Given the description of an element on the screen output the (x, y) to click on. 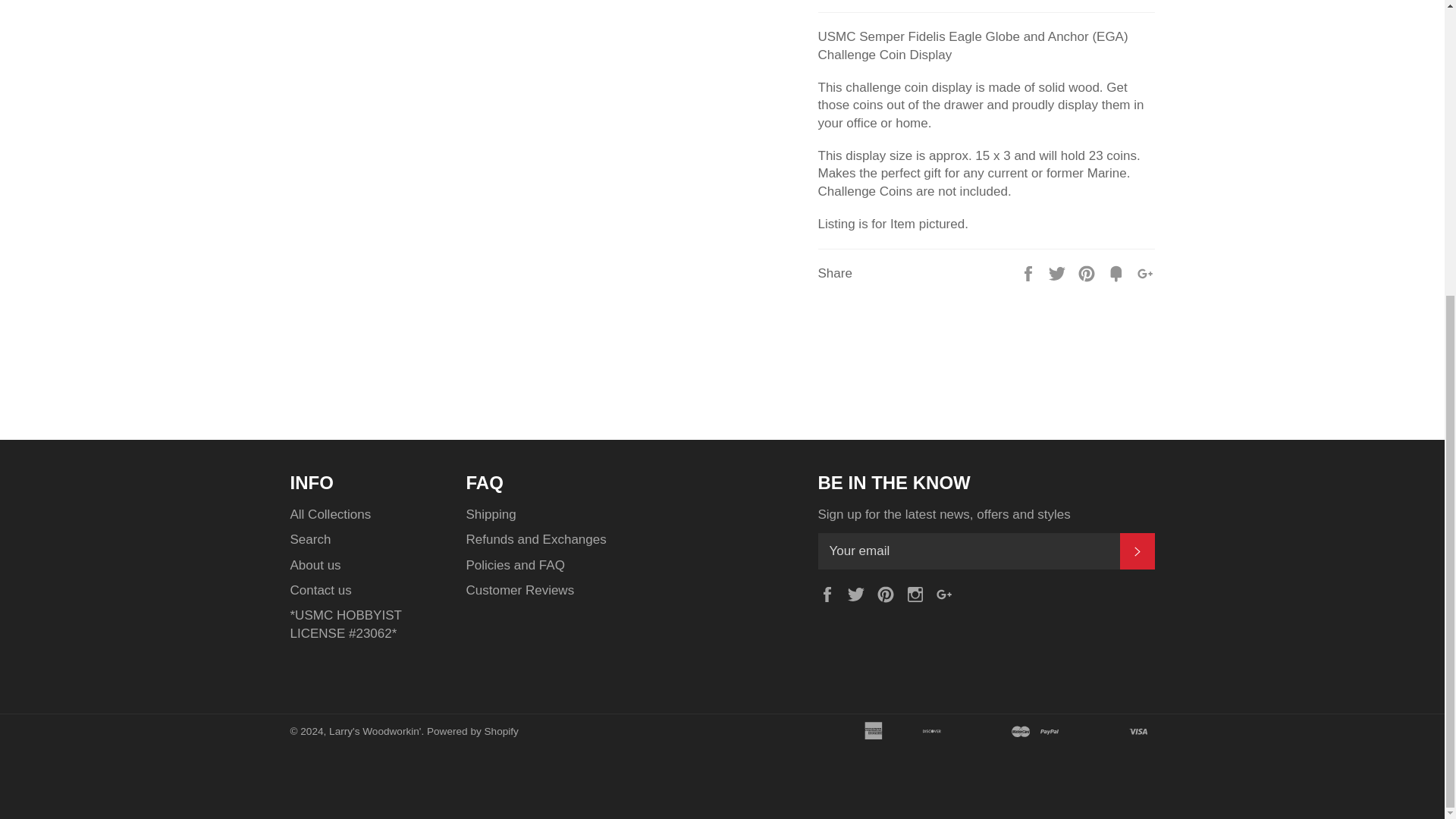
Larry's Woodworkin' on Pinterest (889, 593)
Larry's Woodworkin' on Google Plus (947, 593)
Larry's Woodworkin' on Instagram (918, 593)
Larry's Woodworkin' on Facebook (829, 593)
Larry's Woodworkin' on Twitter (859, 593)
